Given the description of an element on the screen output the (x, y) to click on. 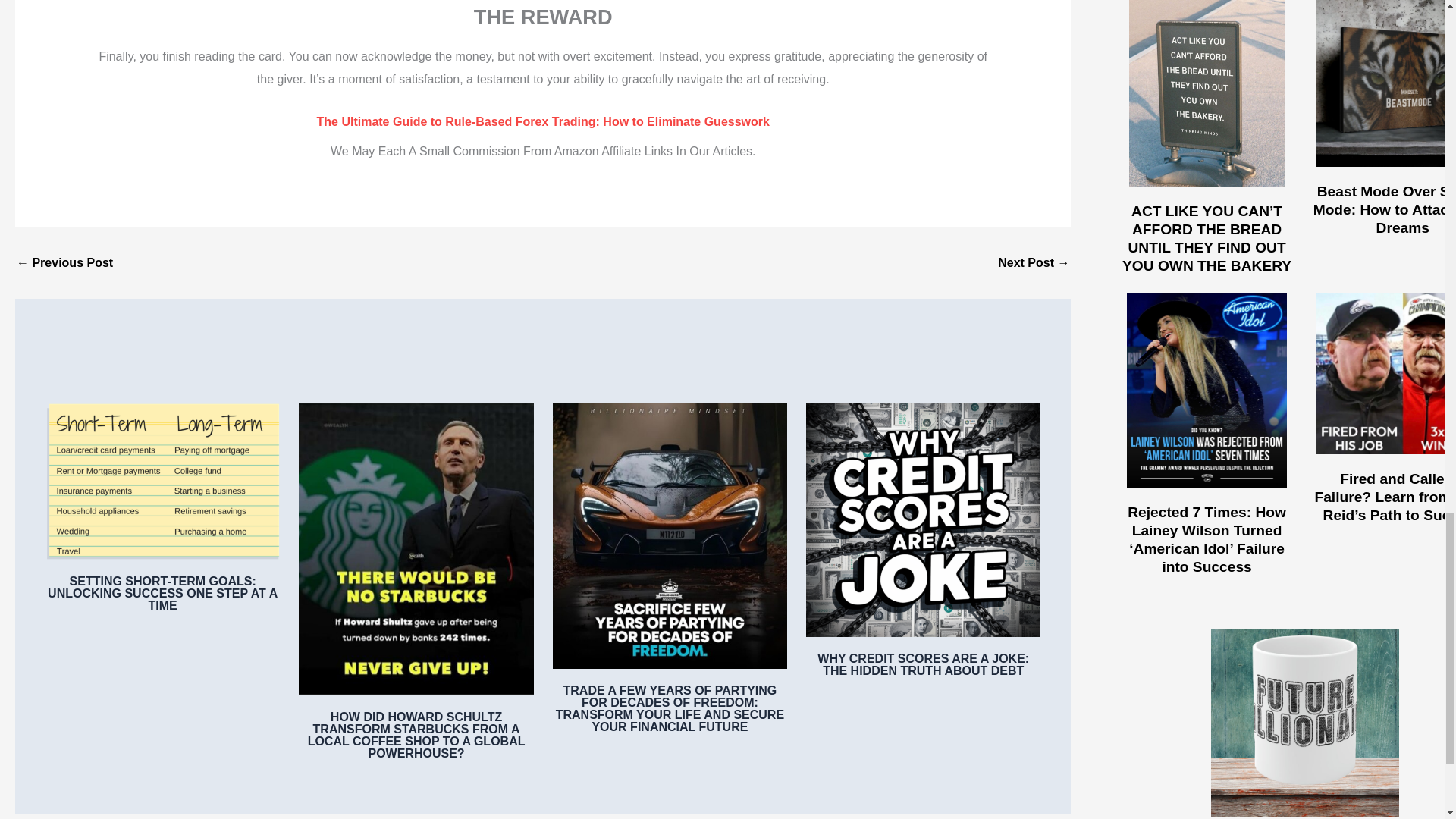
WHY CREDIT SCORES ARE A JOKE: THE HIDDEN TRUTH ABOUT DEBT (922, 664)
